Given the description of an element on the screen output the (x, y) to click on. 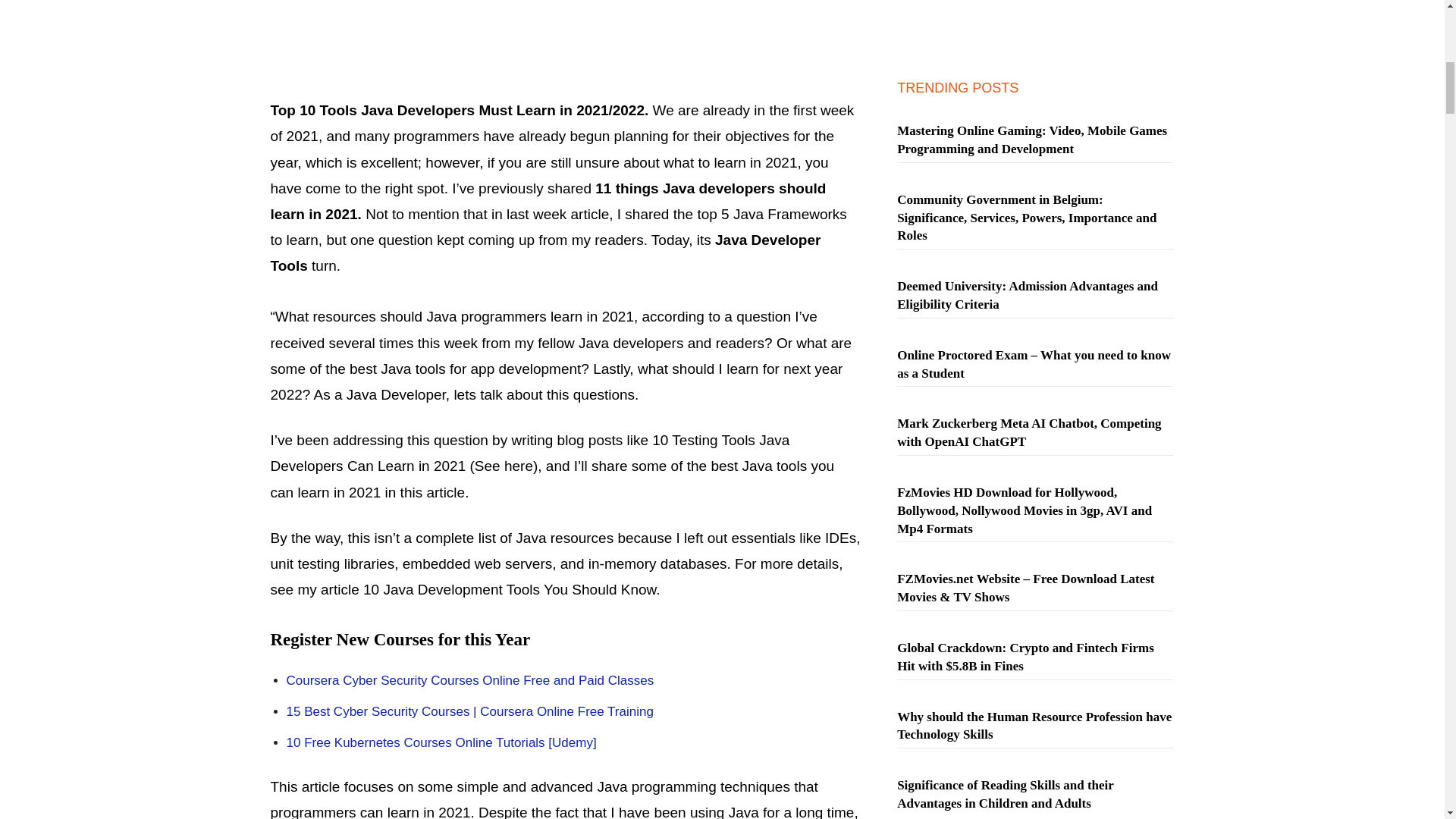
Advertisement (564, 40)
